Given the description of an element on the screen output the (x, y) to click on. 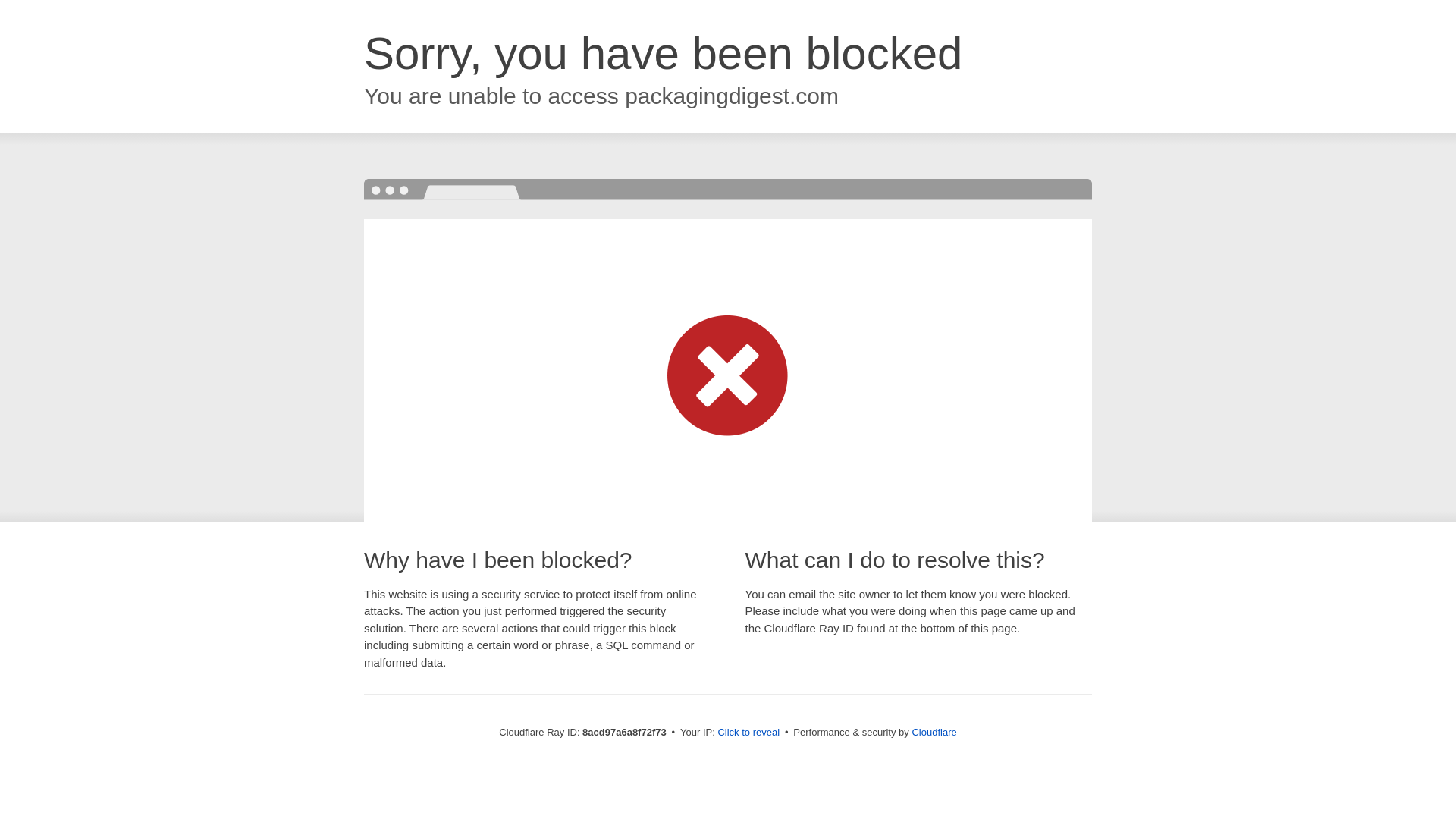
Cloudflare (933, 731)
Click to reveal (747, 732)
